Given the description of an element on the screen output the (x, y) to click on. 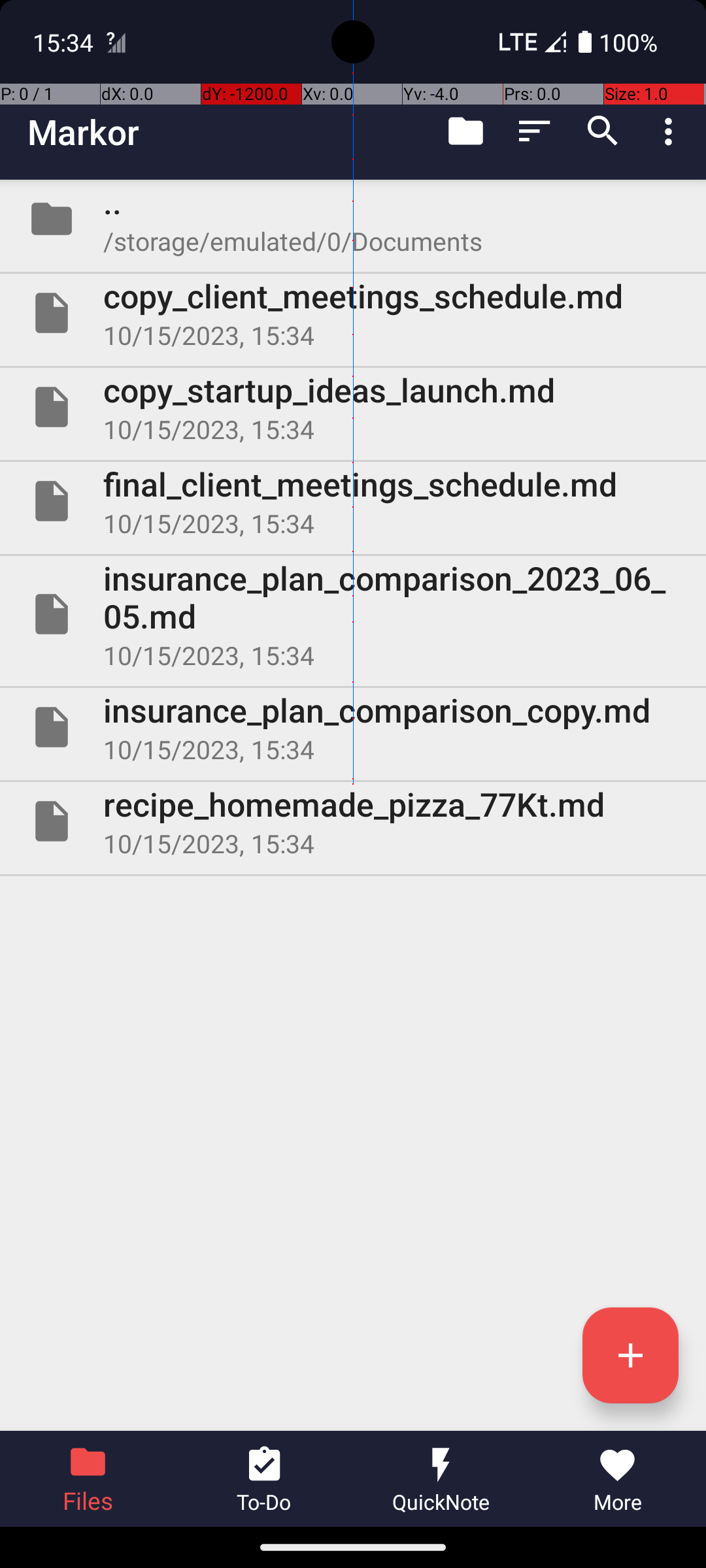
File copy_client_meetings_schedule.md  Element type: android.widget.LinearLayout (353, 312)
File copy_startup_ideas_launch.md  Element type: android.widget.LinearLayout (353, 406)
File final_client_meetings_schedule.md  Element type: android.widget.LinearLayout (353, 500)
File insurance_plan_comparison_2023_06_05.md  Element type: android.widget.LinearLayout (353, 613)
File insurance_plan_comparison_copy.md  Element type: android.widget.LinearLayout (353, 726)
File recipe_homemade_pizza_77Kt.md  Element type: android.widget.LinearLayout (353, 821)
